Given the description of an element on the screen output the (x, y) to click on. 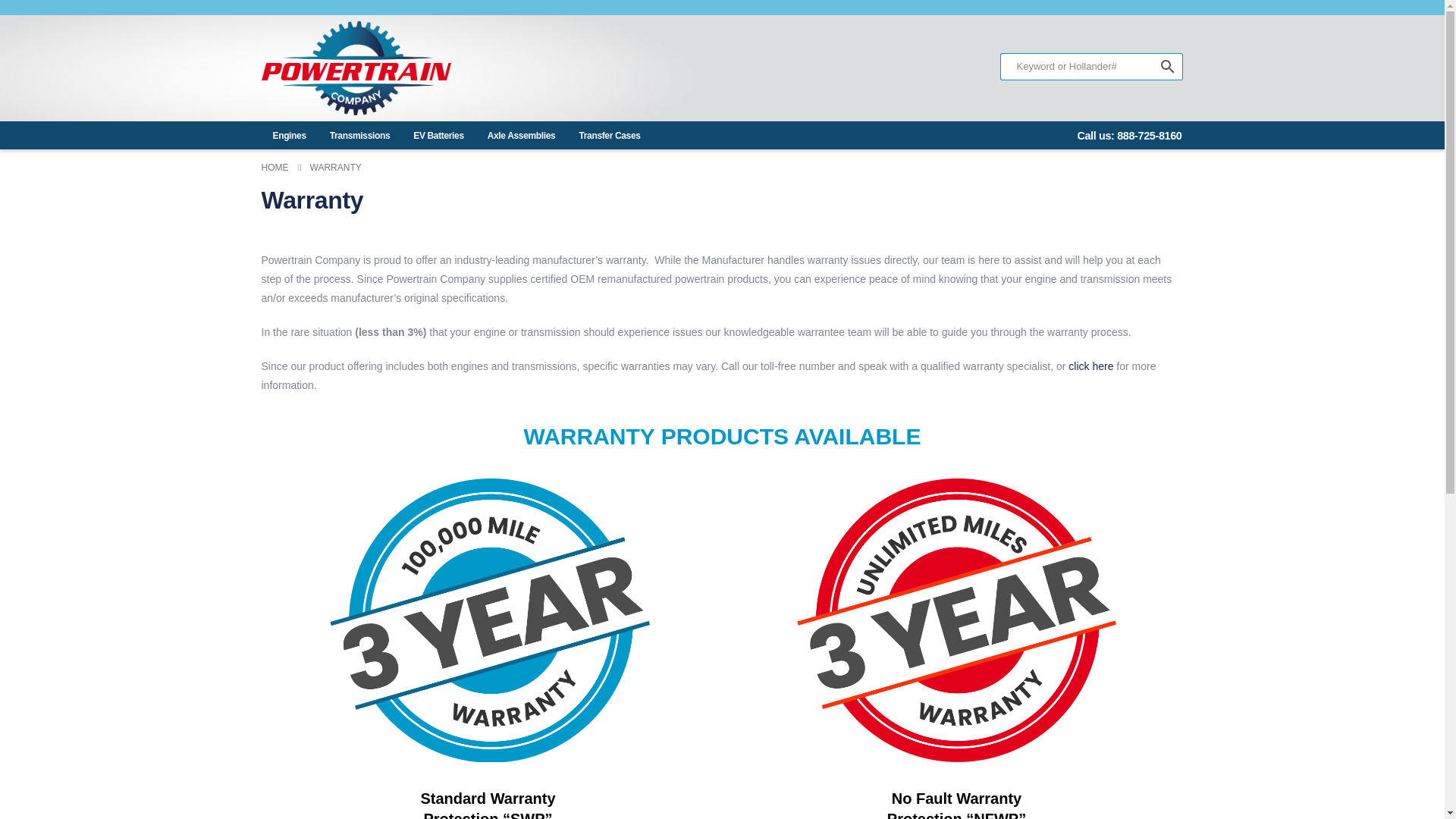
Go to Home Page (274, 167)
Engines (288, 137)
Transmissions (359, 137)
